Given the description of an element on the screen output the (x, y) to click on. 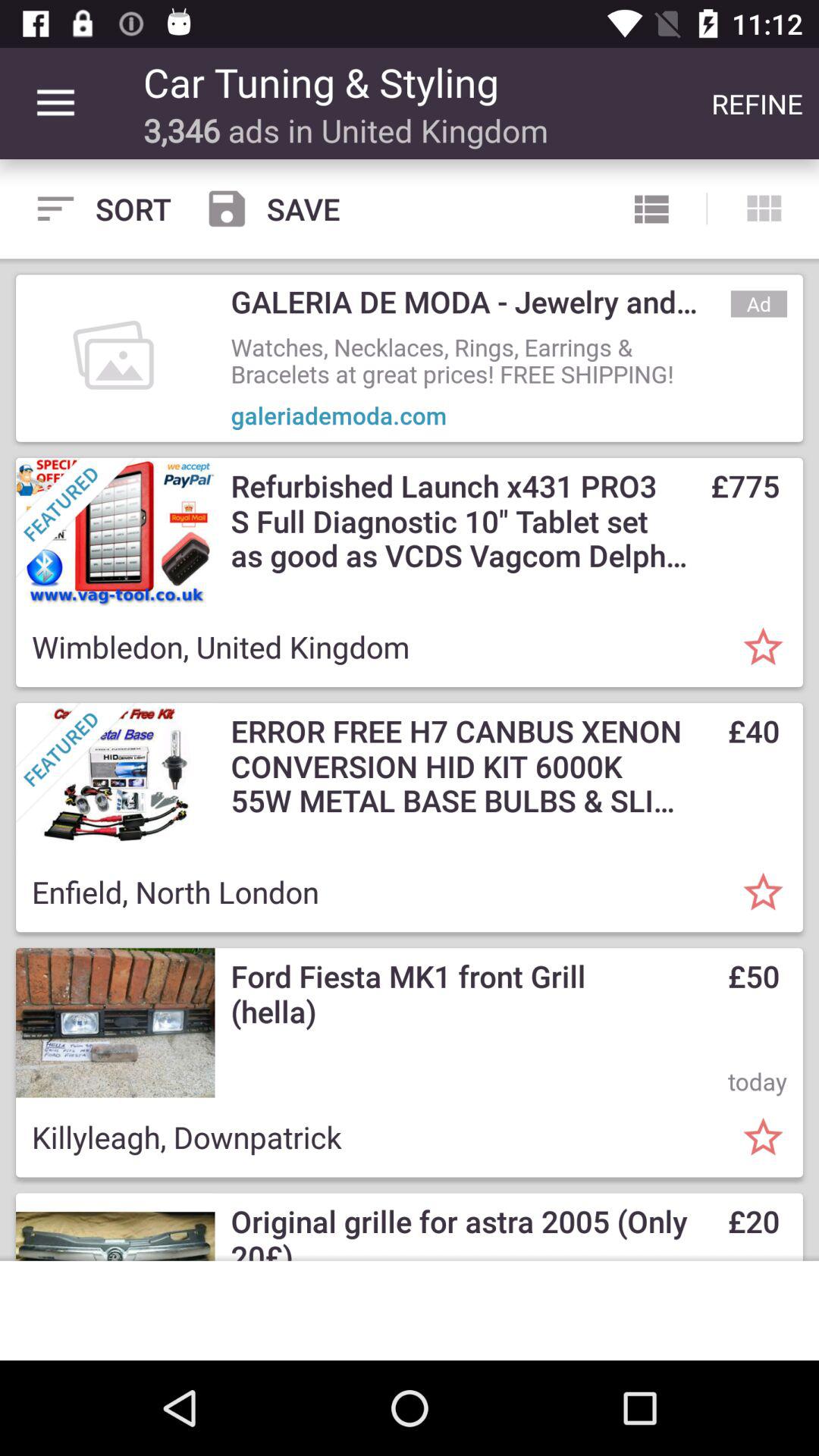
choose second image from top (115, 532)
image left to the text ford fiesta (115, 1022)
select the icon just below refine text (763, 208)
select the first image below sort (115, 357)
select the star which is right to enfield north london (763, 891)
